Given the description of an element on the screen output the (x, y) to click on. 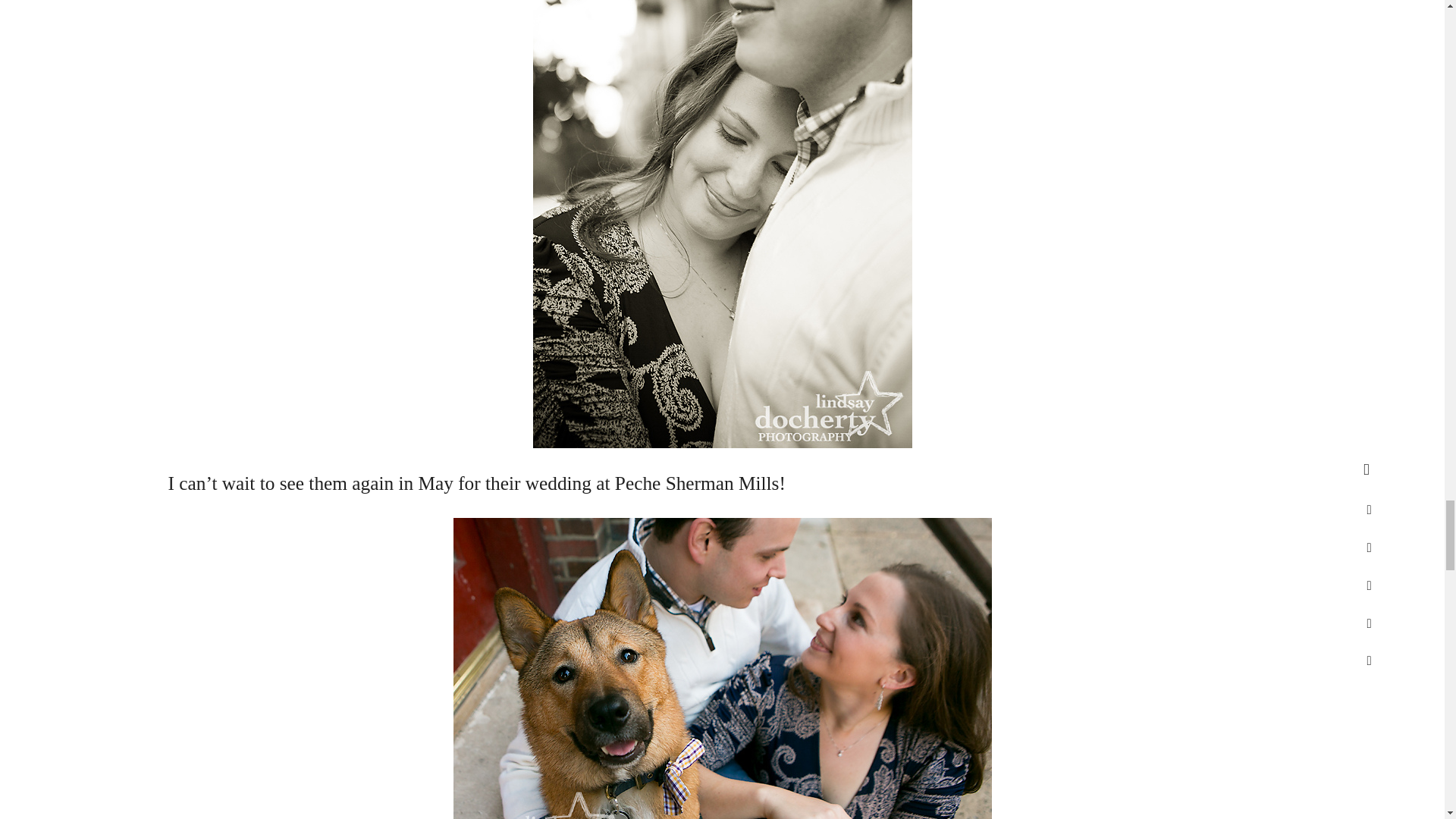
Peche Sherman Mills (696, 482)
